Given the description of an element on the screen output the (x, y) to click on. 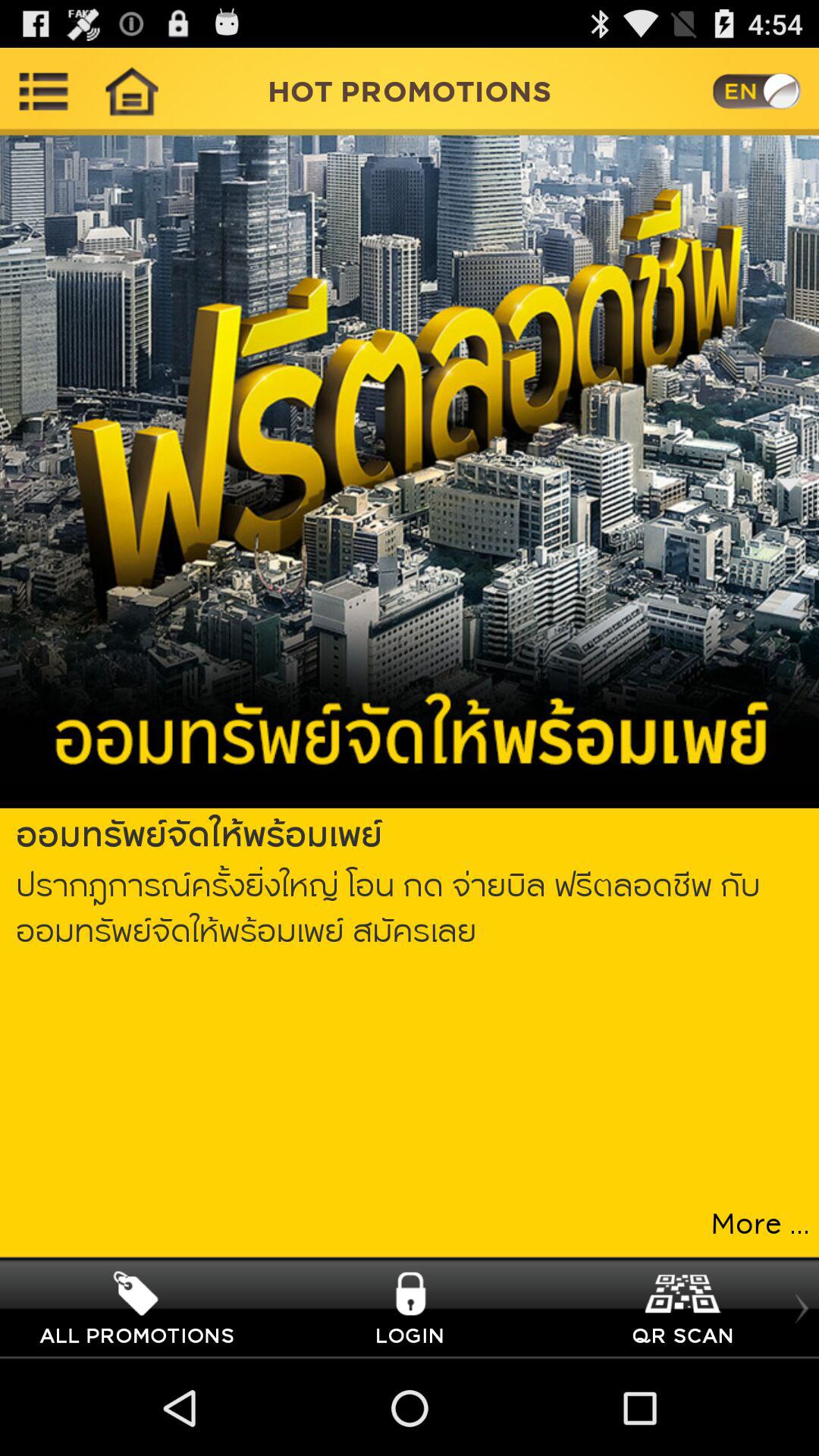
open main menu (43, 91)
